Given the description of an element on the screen output the (x, y) to click on. 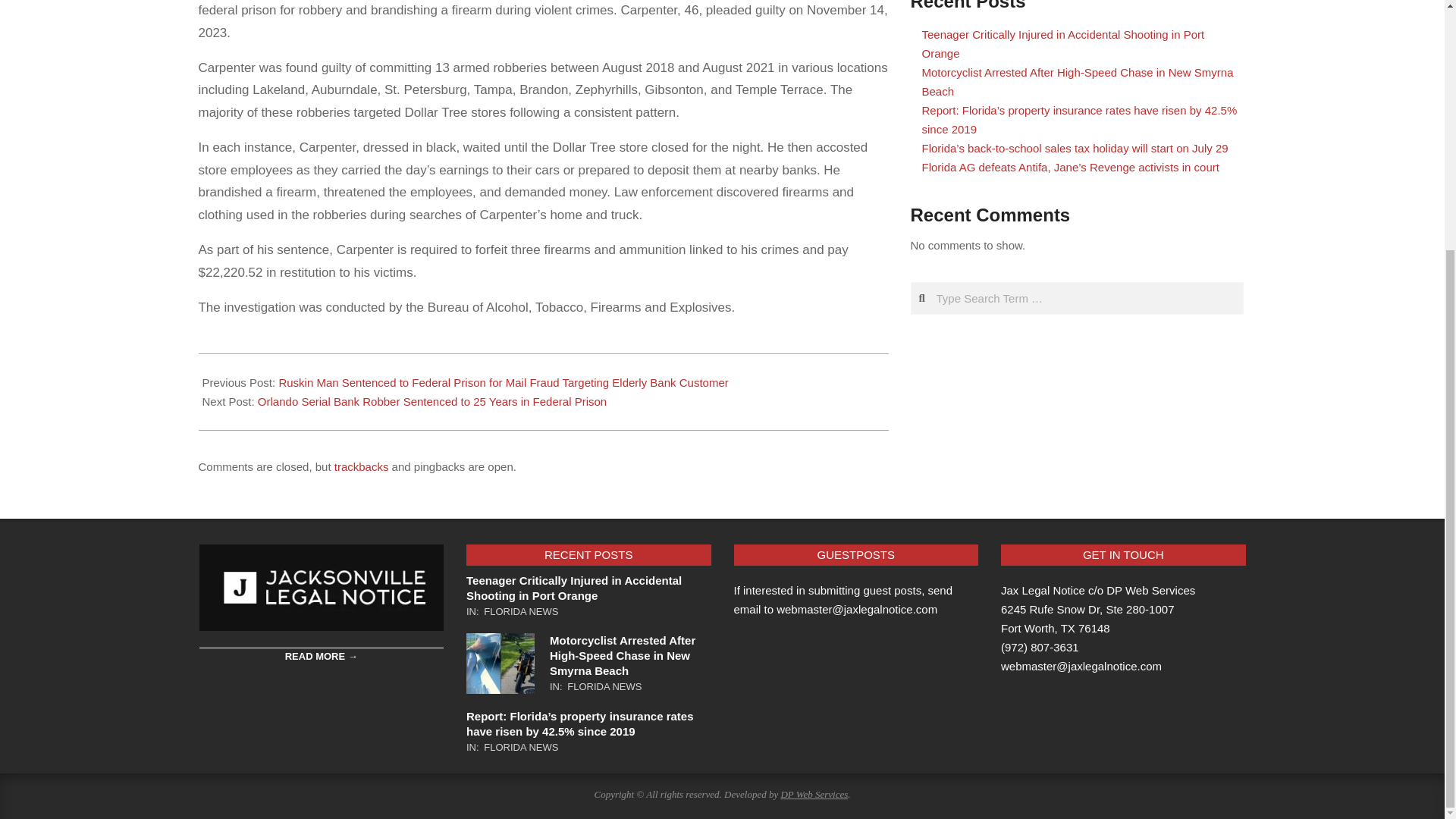
trackbacks (361, 466)
FLORIDA NEWS (520, 611)
